Given the description of an element on the screen output the (x, y) to click on. 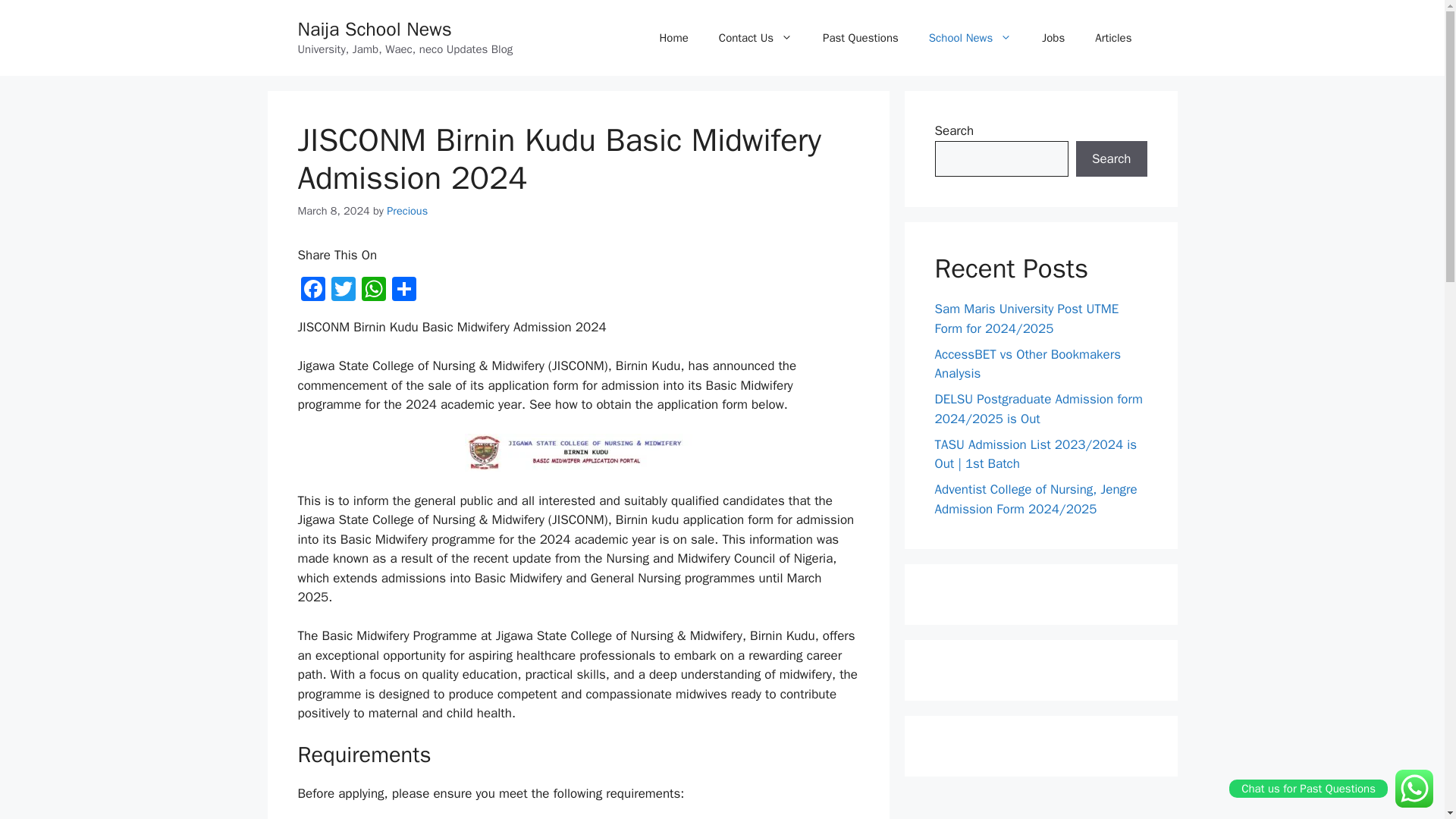
View all posts by Precious (407, 210)
Search (1111, 158)
Jobs (1053, 37)
Contact Us (755, 37)
Articles (1113, 37)
WhatsApp (373, 290)
Facebook (312, 290)
School News (970, 37)
Home (673, 37)
Twitter (342, 290)
